Given the description of an element on the screen output the (x, y) to click on. 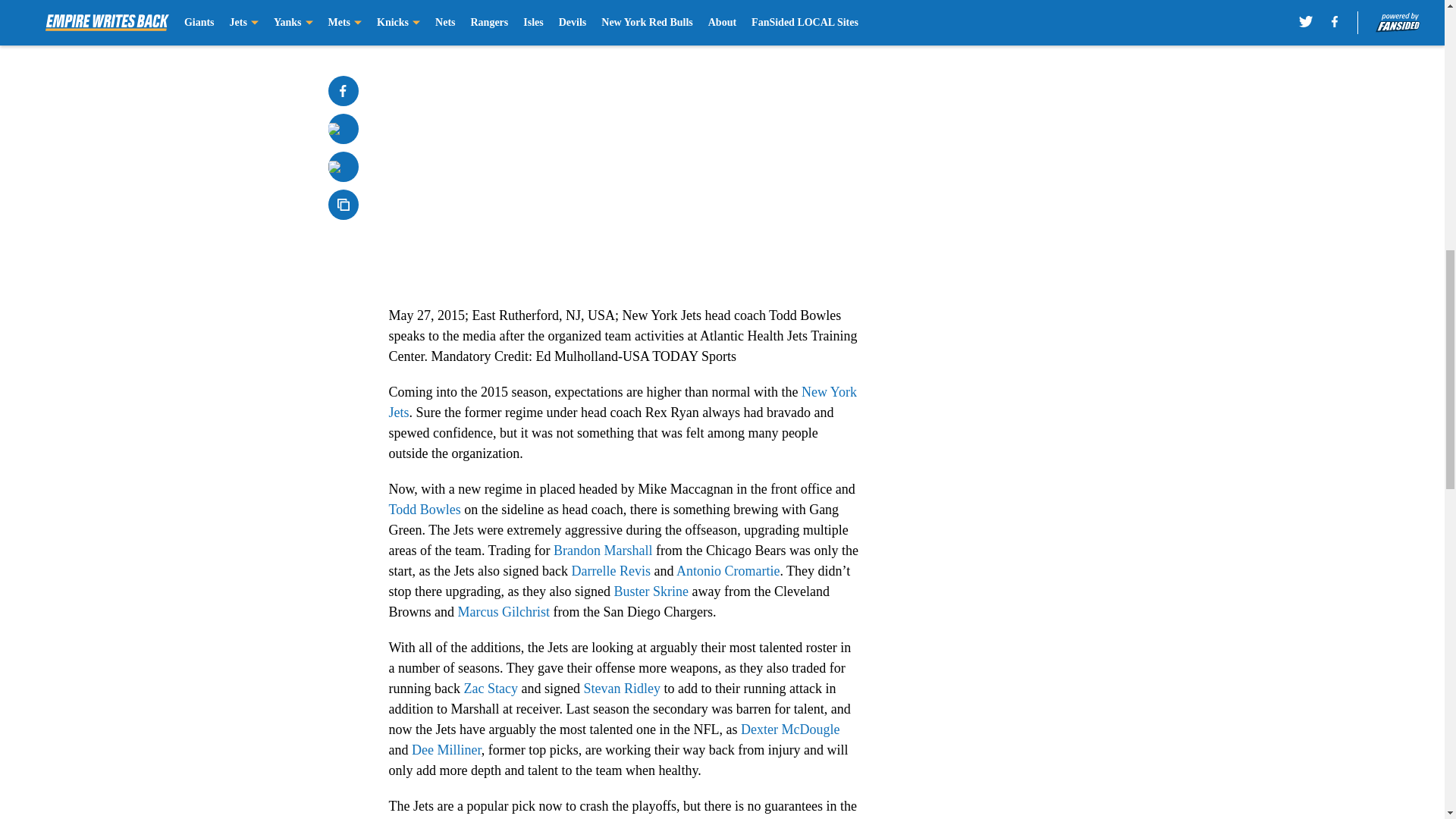
Buster Skrine (650, 590)
New York Jets (622, 402)
Darrelle Revis (609, 570)
Zac Stacy (489, 688)
Prev (433, 5)
Todd Bowles (424, 509)
Marcus Gilchrist (504, 611)
Stevan Ridley (622, 688)
Next (813, 5)
Brandon Marshall (602, 549)
